Given the description of an element on the screen output the (x, y) to click on. 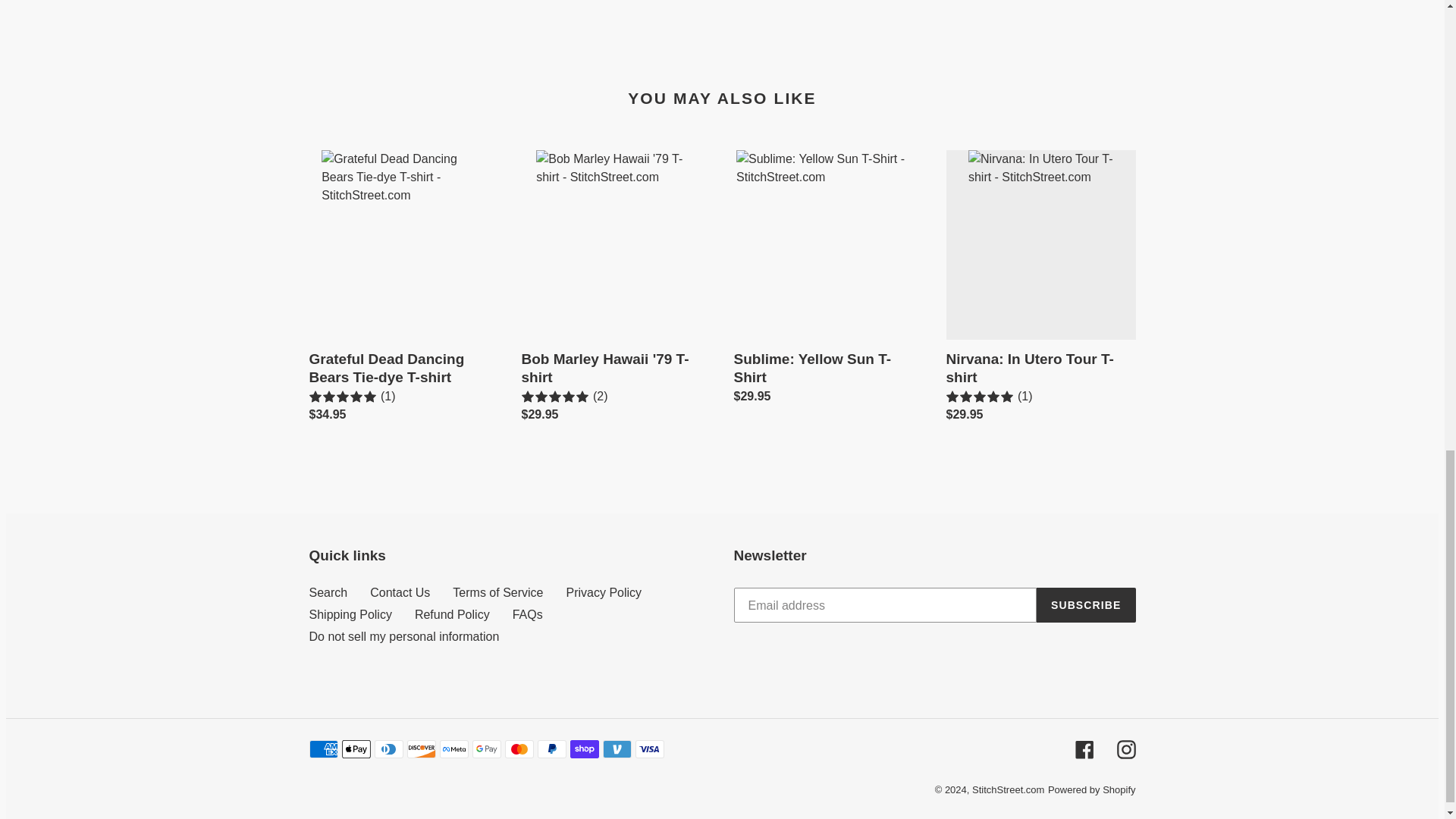
Product reviews widget (721, 23)
Privacy Policy (604, 592)
Search (327, 592)
Contact Us (399, 592)
Terms of Service (497, 592)
